Given the description of an element on the screen output the (x, y) to click on. 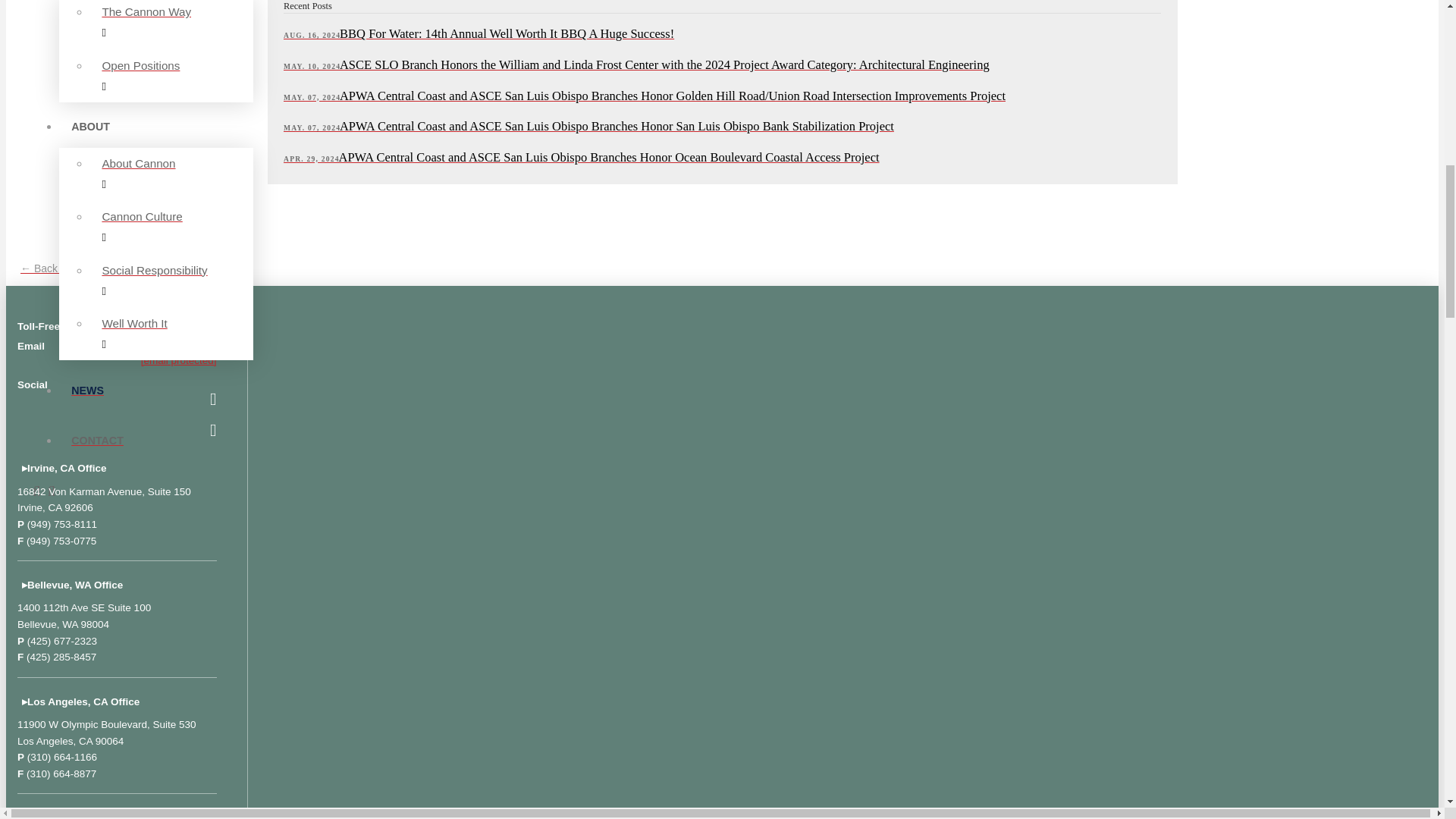
Open Positions (170, 75)
About Cannon (170, 174)
ABOUT (737, 132)
NEWS (737, 396)
Social Responsibility (170, 280)
The Cannon Way (170, 24)
Cannon Culture (170, 226)
Well Worth It (170, 333)
